Given the description of an element on the screen output the (x, y) to click on. 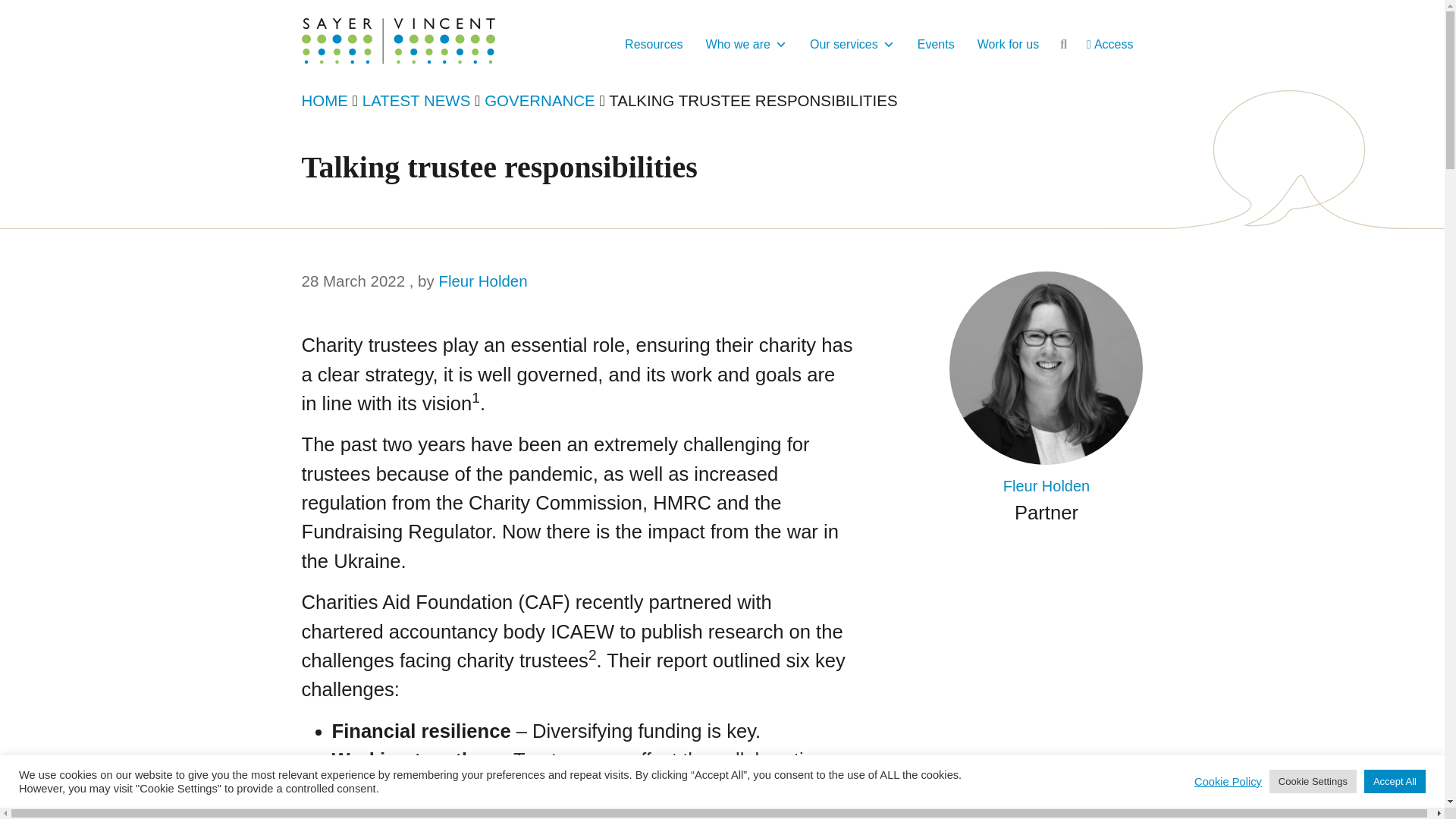
Resources (653, 44)
GOVERNANCE (539, 99)
Events (935, 44)
Our services (851, 44)
LATEST NEWS (416, 99)
Fleur Holden (482, 280)
Who we are (745, 44)
Access (1109, 44)
HOME (324, 99)
Work for us (1008, 44)
